Given the description of an element on the screen output the (x, y) to click on. 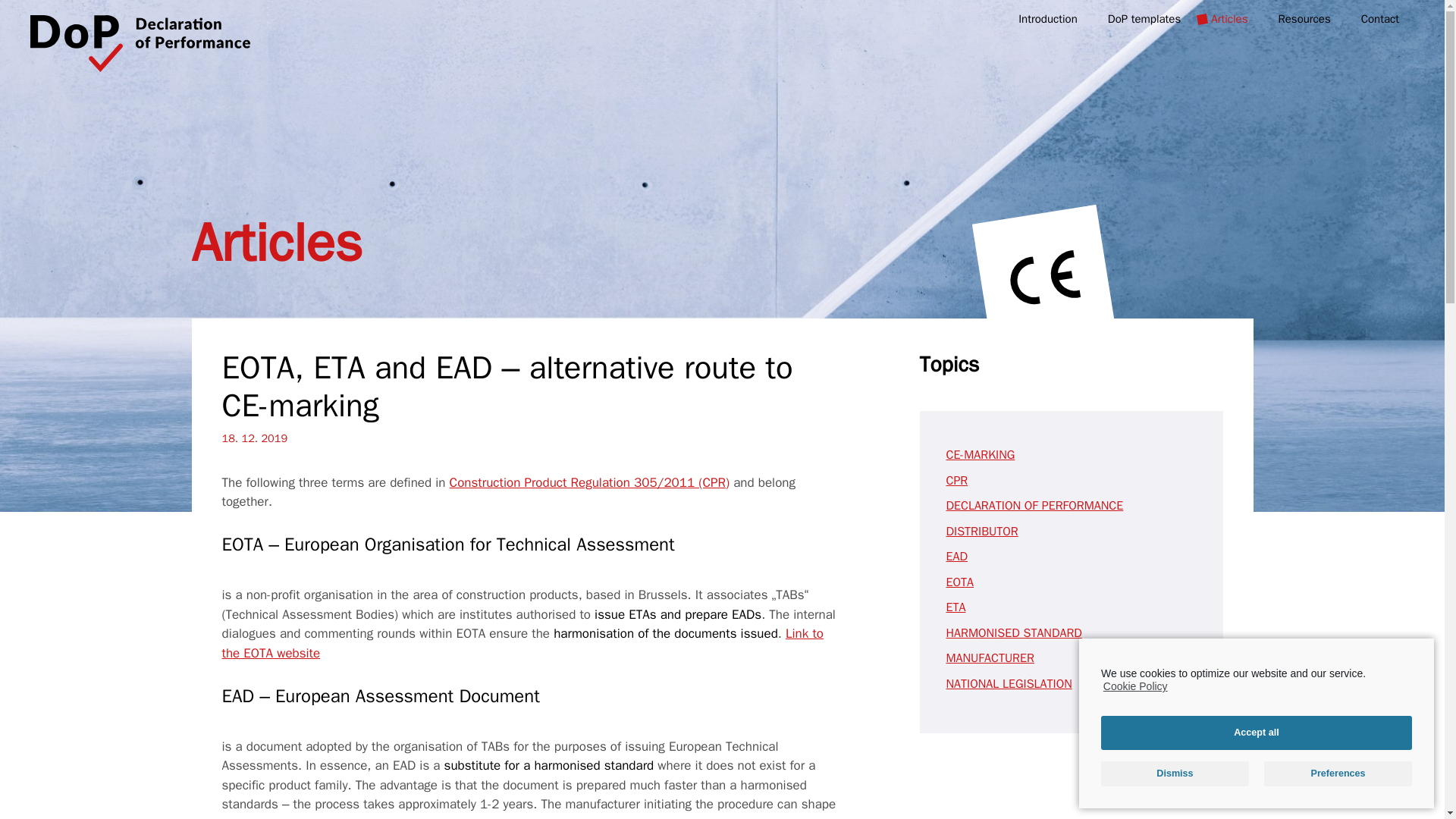
5 topics (980, 454)
1 topics (956, 607)
CE-MARKING (980, 454)
CPR (957, 480)
8 topics (989, 657)
Articles (1228, 20)
Contact (1379, 20)
1 topics (957, 556)
11 topics (957, 480)
DECLARATION OF PERFORMANCE (1035, 505)
EAD (957, 556)
List of published EADs (686, 817)
Resources (1303, 20)
